Given the description of an element on the screen output the (x, y) to click on. 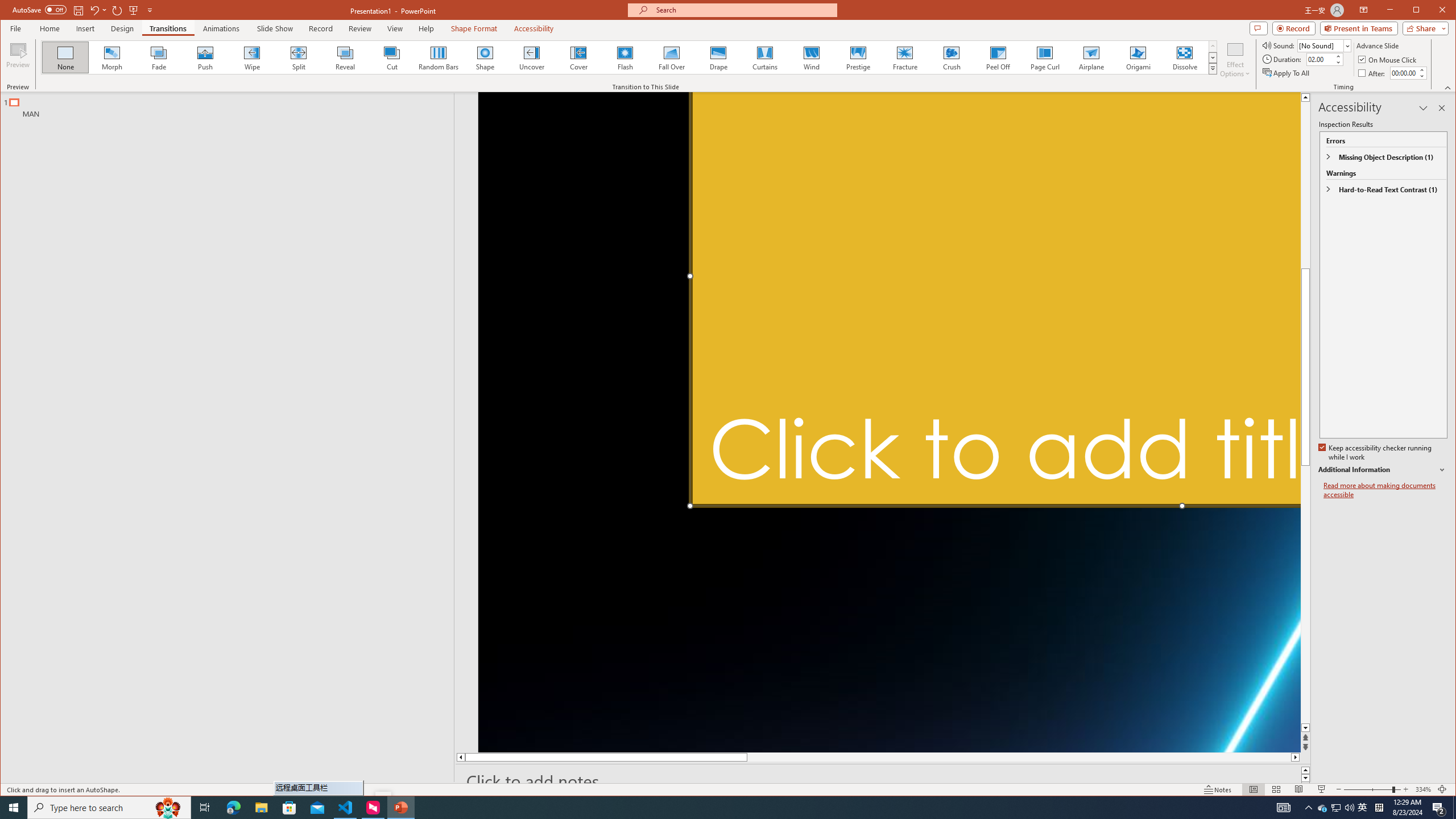
After (1403, 72)
Outline (231, 104)
Neon laser lights aligned to form a triangle (889, 421)
Title TextBox (994, 299)
Drape (717, 57)
